Given the description of an element on the screen output the (x, y) to click on. 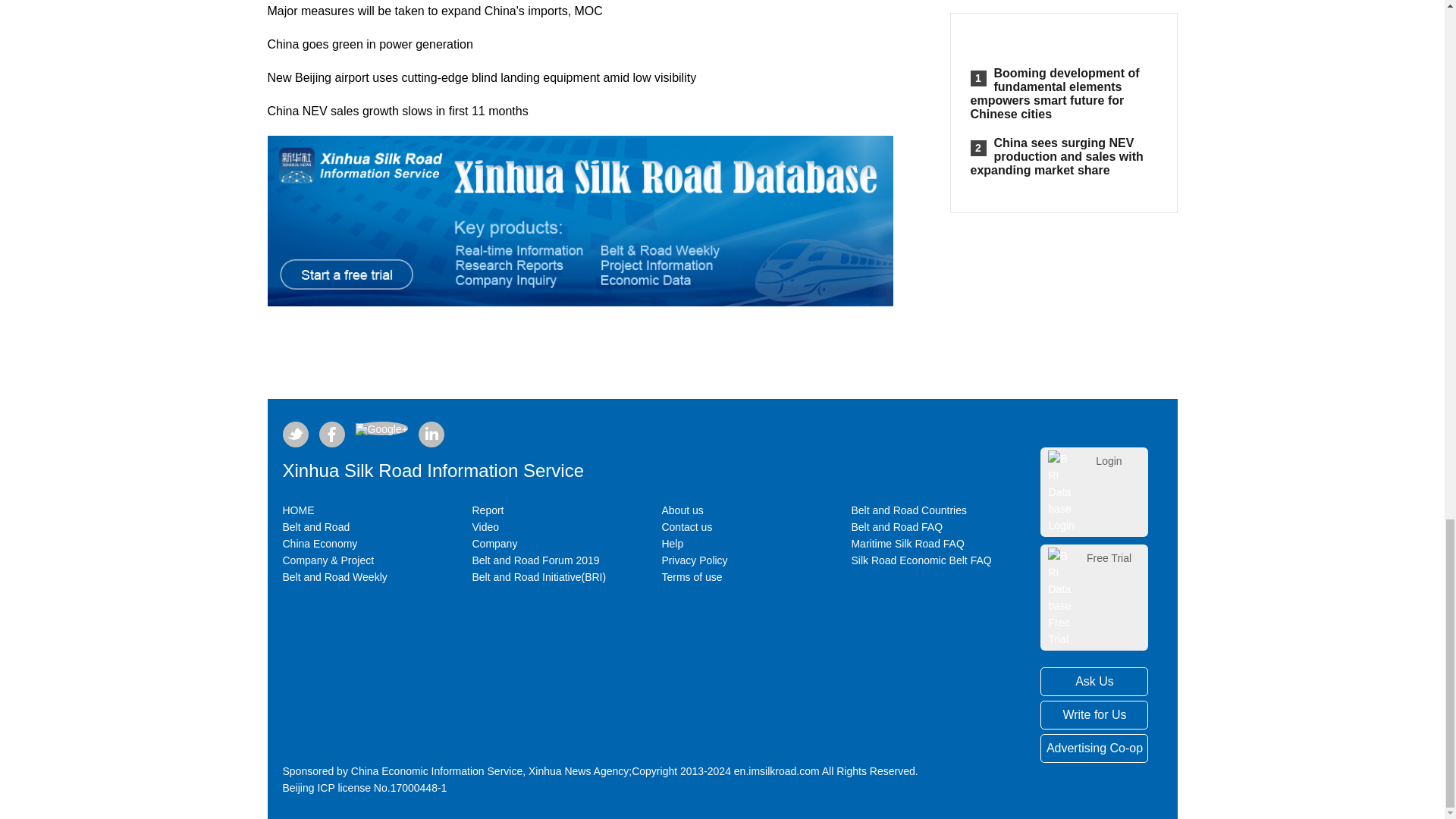
China NEV sales growth slows in first 11 months (396, 110)
China goes green in power generation (368, 43)
Major measures will be taken to expand China's imports, MOC  (434, 10)
